Given the description of an element on the screen output the (x, y) to click on. 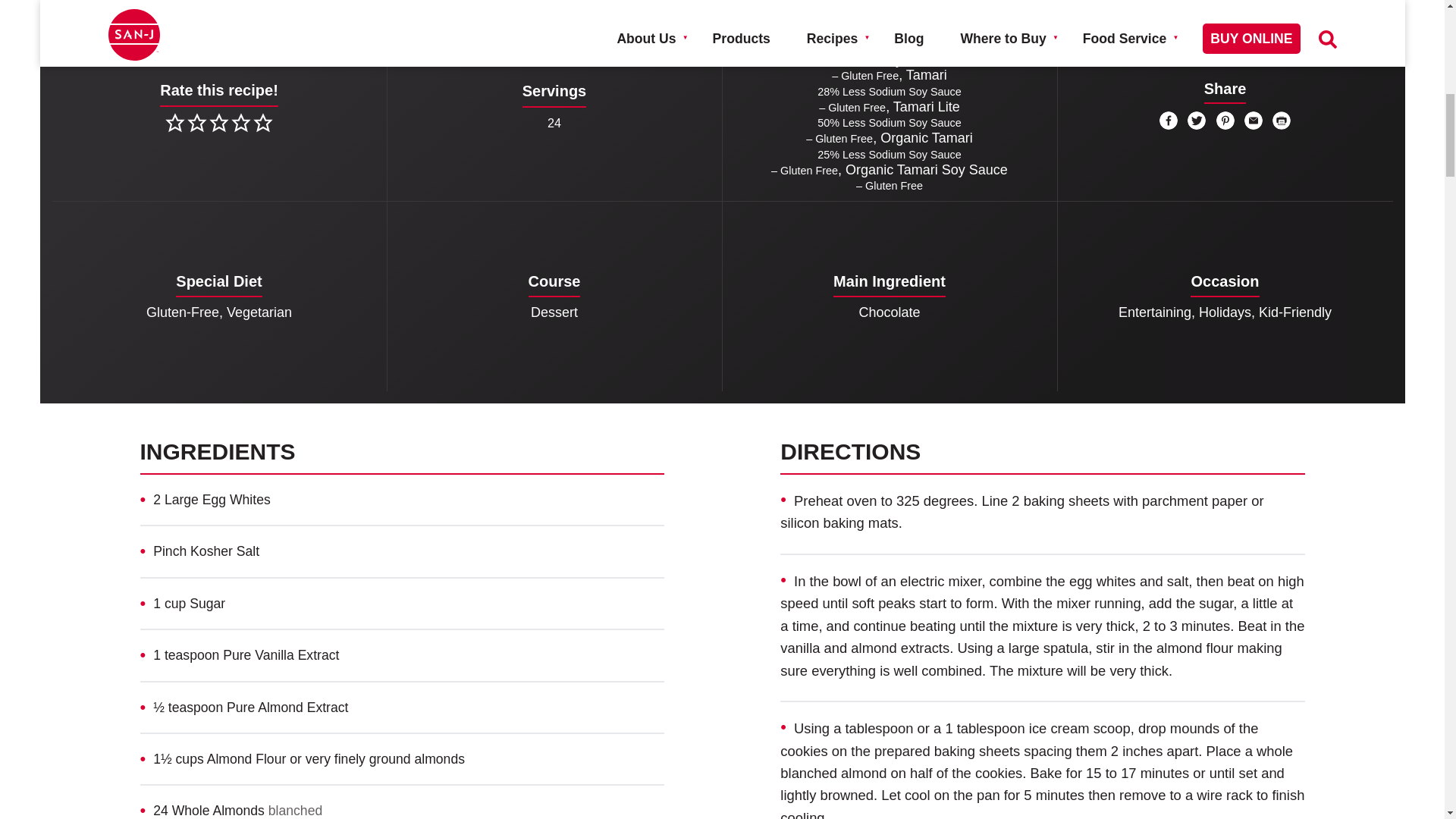
Share on Pinterest (1224, 120)
Print this Recipe (1281, 120)
Share on Facebook (1167, 120)
Share on Twitter (1196, 120)
Email this Recipe (1253, 120)
